Given the description of an element on the screen output the (x, y) to click on. 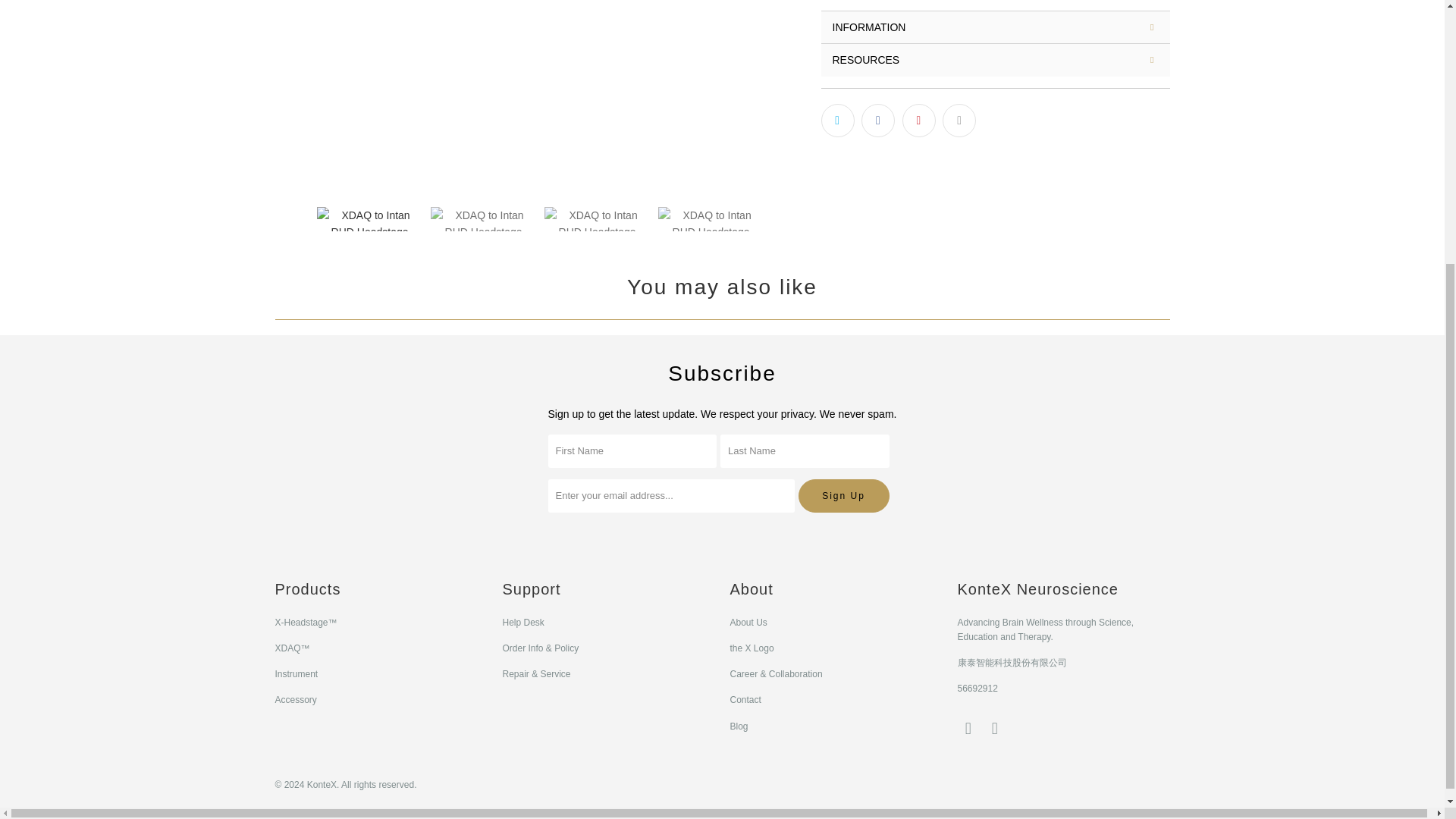
Email this to a friend (958, 120)
Share this on Pinterest (919, 120)
KonteX on YouTube (995, 728)
Share this on Facebook (878, 120)
KonteX on Twitter (967, 728)
Share this on Twitter (837, 120)
Sign Up (842, 495)
